Given the description of an element on the screen output the (x, y) to click on. 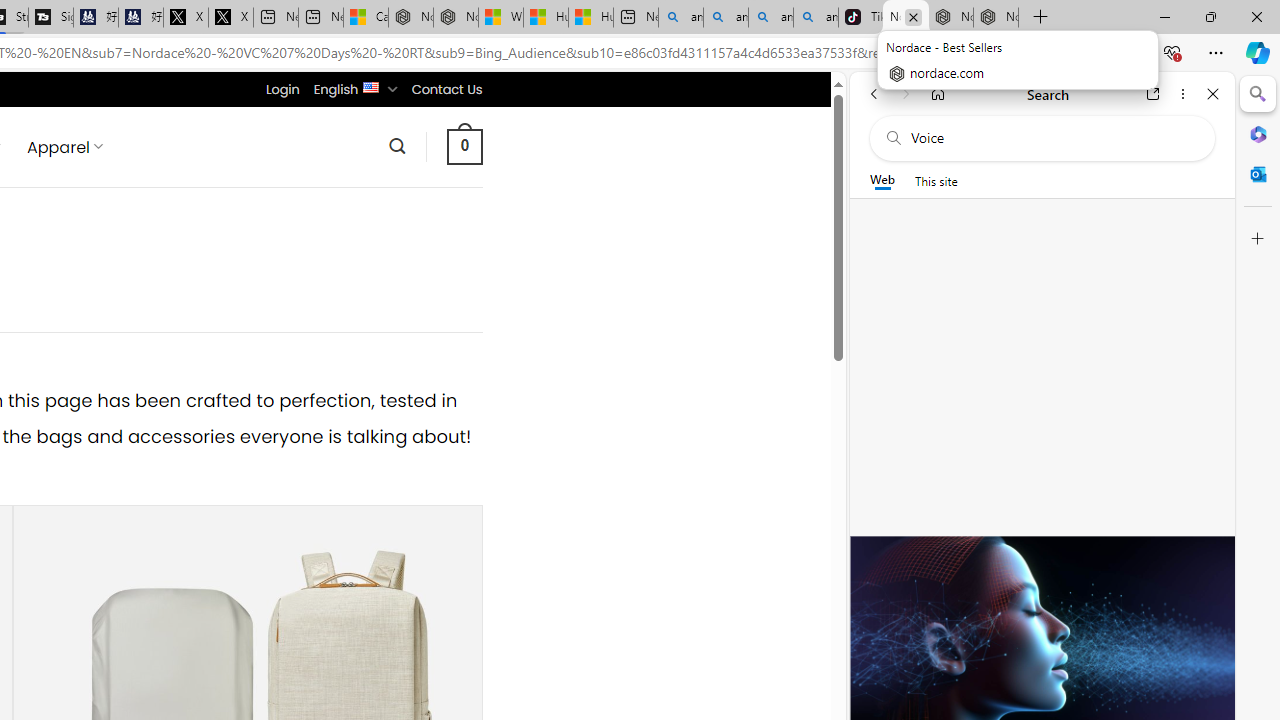
Outlook (1258, 174)
Search the web (1051, 137)
Open link in new tab (1153, 93)
Nordace - Best Sellers (905, 17)
Login (281, 89)
Contact Us (446, 89)
Huge shark washes ashore at New York City beach | Watch (591, 17)
 0  (464, 146)
Search (397, 146)
Search (1258, 94)
